Given the description of an element on the screen output the (x, y) to click on. 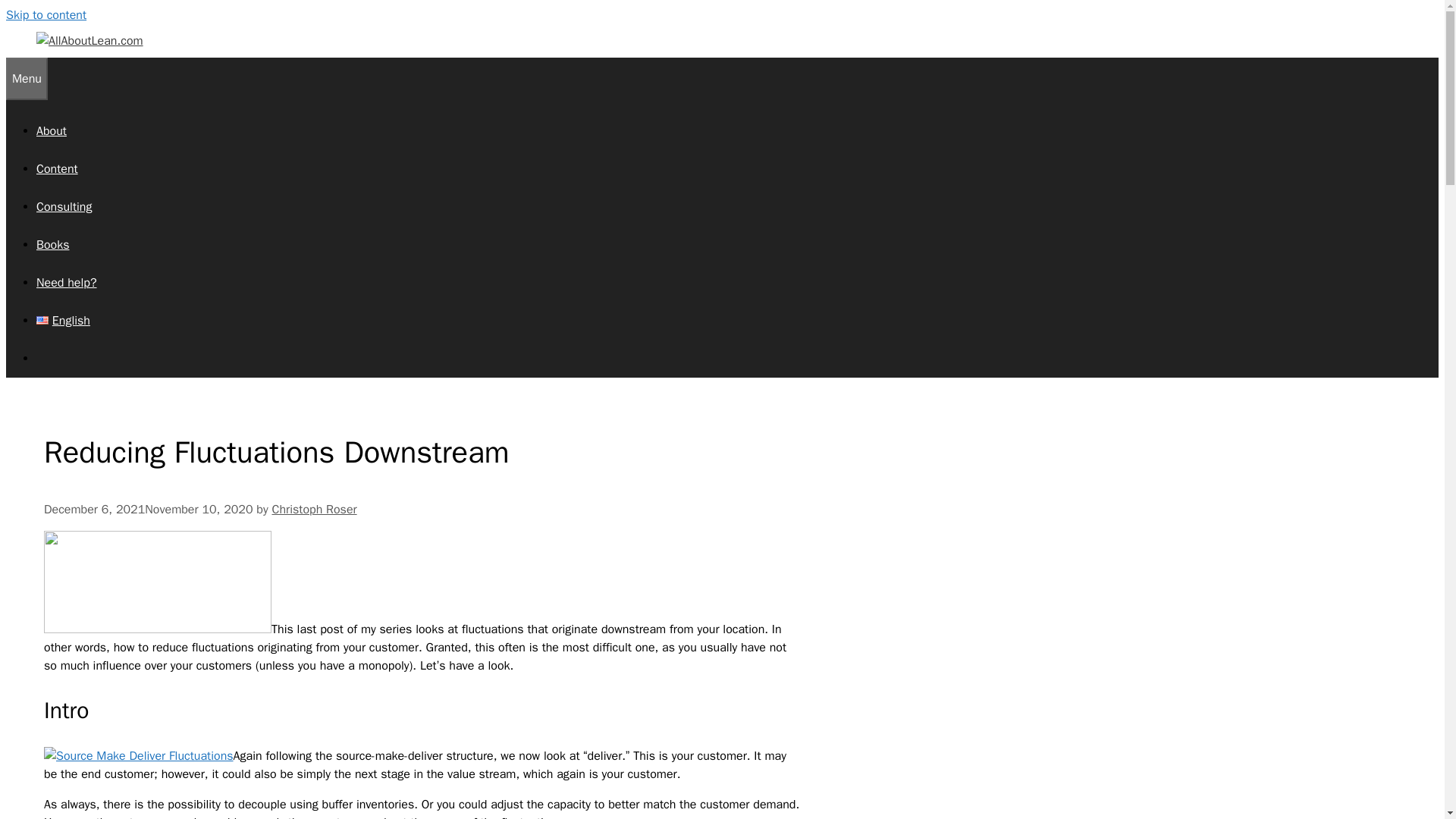
Consulting (63, 206)
Books (52, 244)
Christoph Roser (313, 509)
English (63, 320)
About (51, 130)
Need help? (66, 282)
Content (57, 168)
View all posts by Christoph Roser (313, 509)
Menu (26, 78)
Skip to content (45, 14)
About the blog content (51, 130)
Skip to content (45, 14)
